Given the description of an element on the screen output the (x, y) to click on. 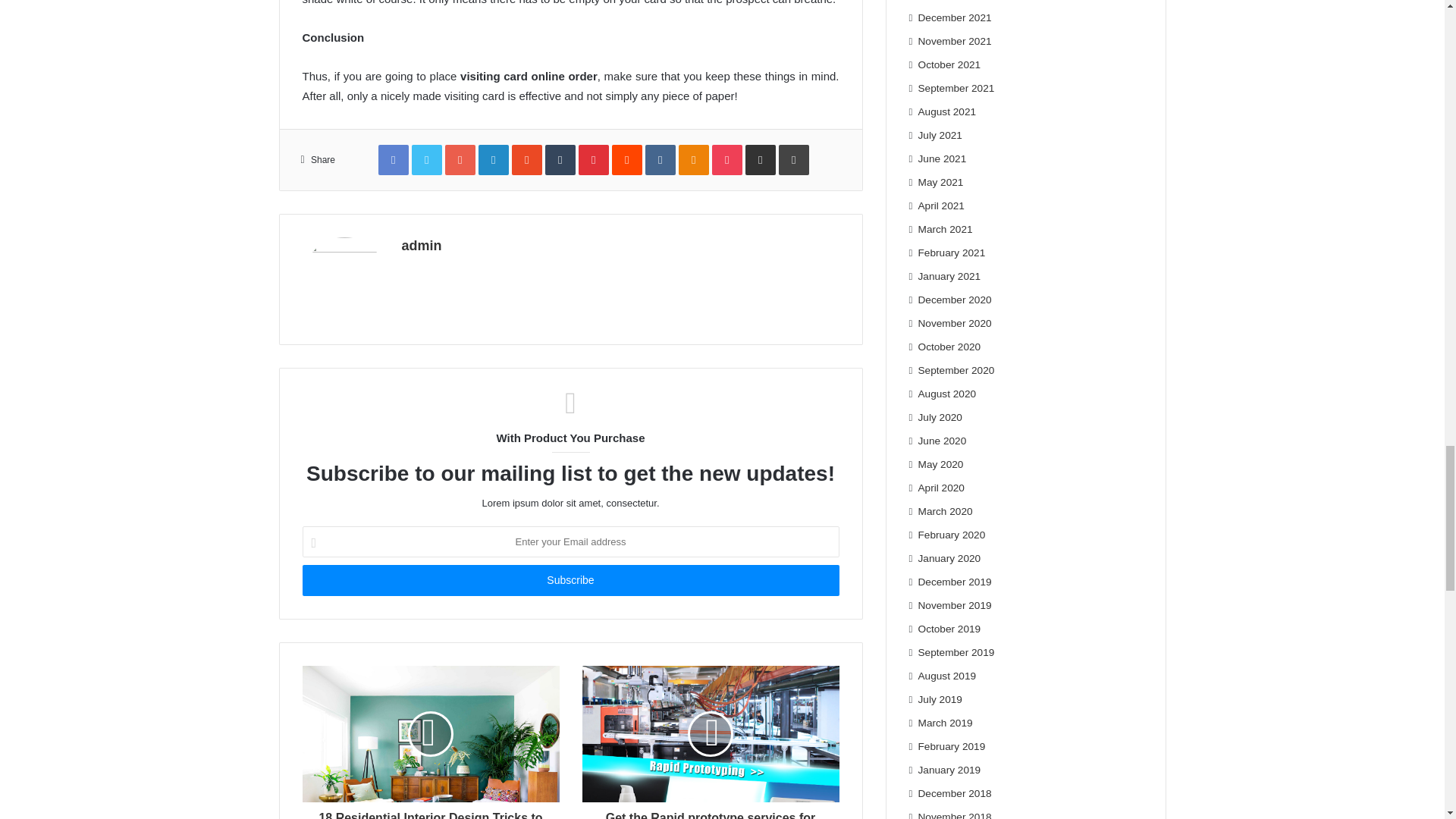
Subscribe (569, 580)
